Given the description of an element on the screen output the (x, y) to click on. 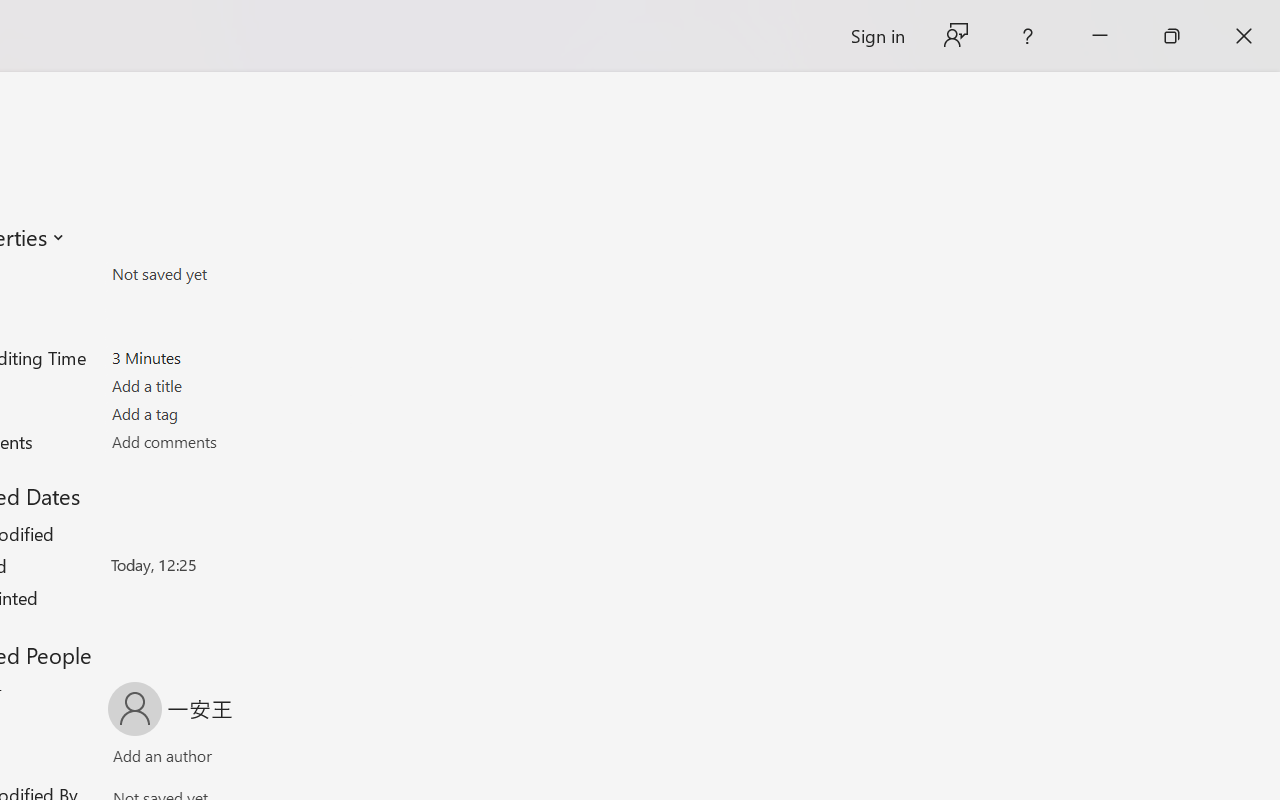
Total Editing Time (228, 357)
Verify Names (197, 759)
